Given the description of an element on the screen output the (x, y) to click on. 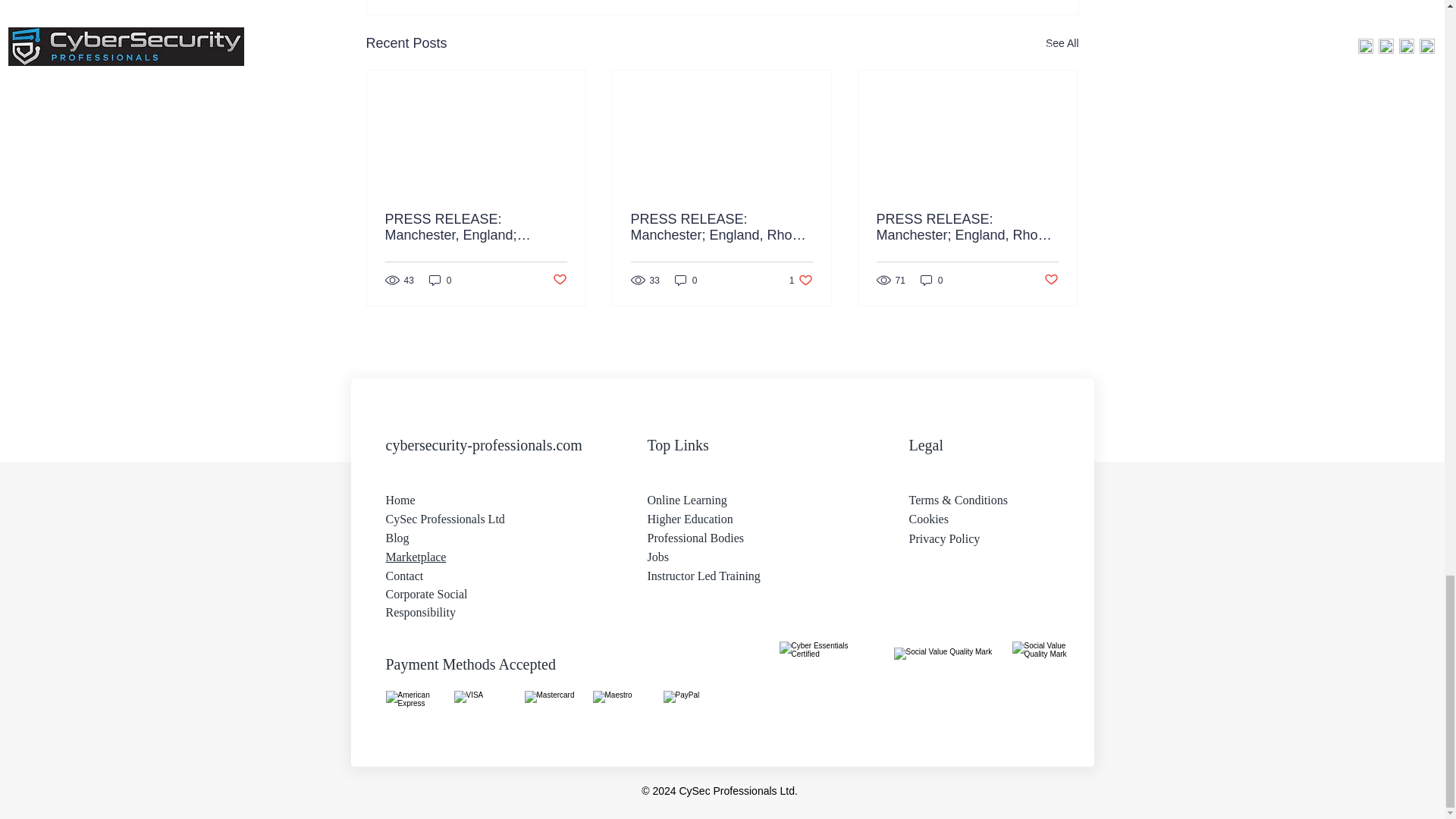
Blog (397, 537)
PRESS RELEASE: Manchester; England, Rhode Island; USA (967, 227)
Contact (404, 575)
PRESS RELEASE: Manchester; England, Rhode Island; USA (721, 227)
0 (685, 279)
Home (399, 499)
0 (800, 279)
Marketplace (931, 279)
PRESS RELEASE: Manchester, England; Washington DC, USA (415, 556)
